Given the description of an element on the screen output the (x, y) to click on. 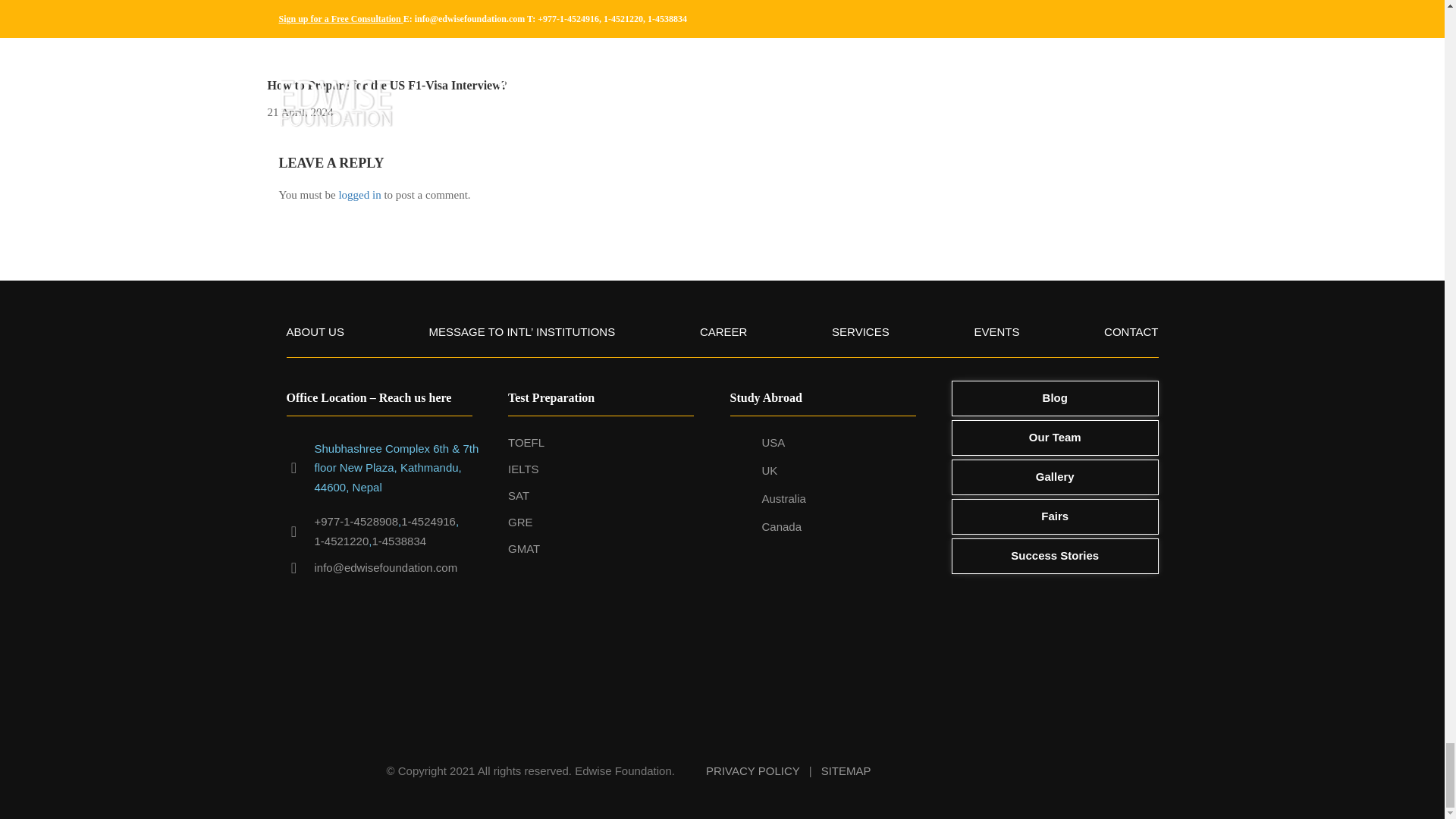
Preparing the us visa interview (380, 33)
How to Prepare for the US F1-Visa Interview? (386, 84)
